Given the description of an element on the screen output the (x, y) to click on. 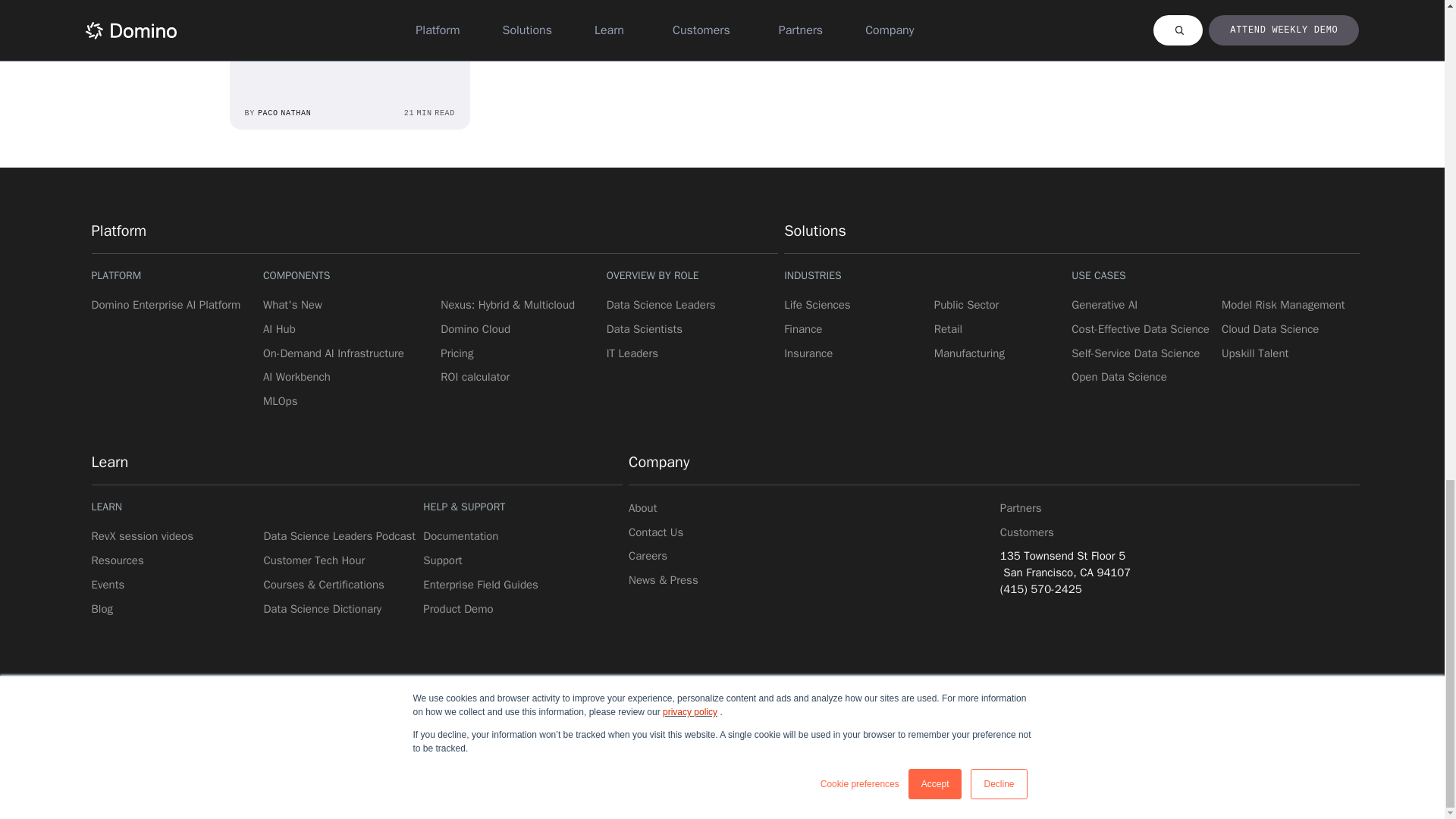
What's New (292, 305)
Domino Enterprise AI Platform (165, 305)
Paco Nathan (279, 2)
